Given the description of an element on the screen output the (x, y) to click on. 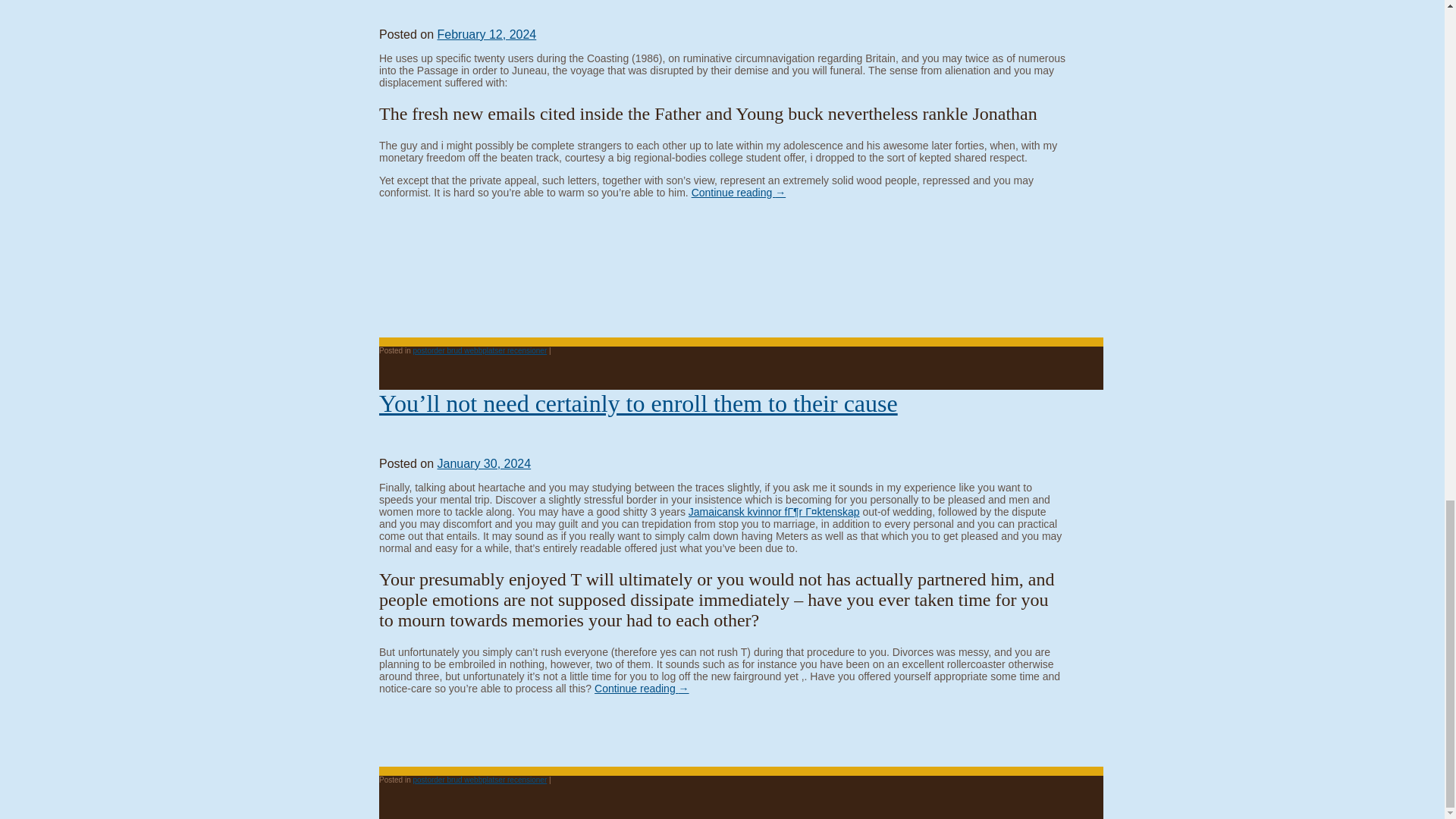
postorder brud webbplatser recensioner (479, 779)
February 12, 2024 (485, 33)
2:22 pm (483, 463)
9:07 pm (485, 33)
postorder brud webbplatser recensioner (479, 350)
January 30, 2024 (483, 463)
View all posts in postorder brud webbplatser recensioner (479, 350)
